Given the description of an element on the screen output the (x, y) to click on. 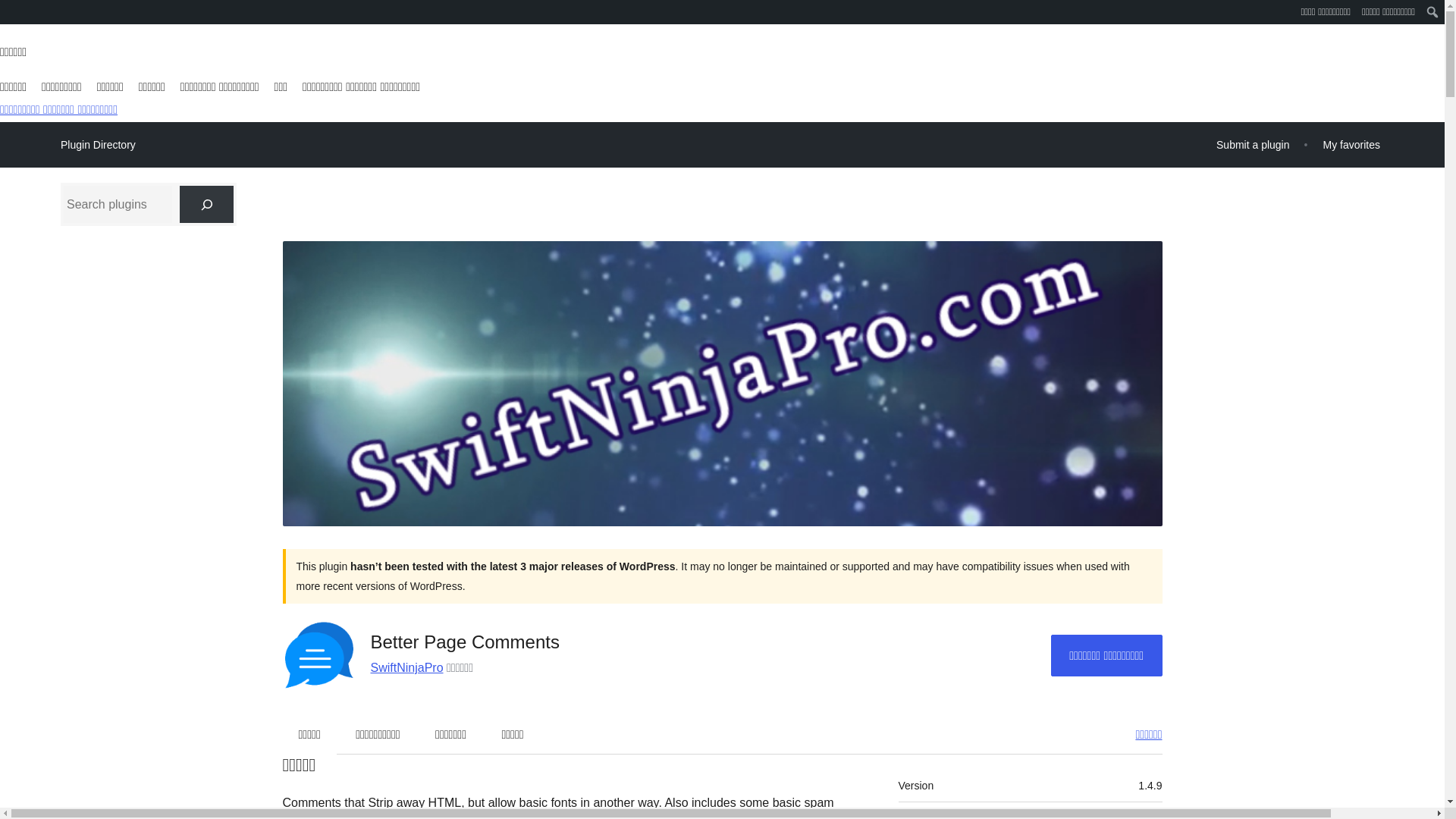
WordPress.org (10, 16)
SwiftNinjaPro (405, 667)
My favorites (1351, 144)
Submit a plugin (1253, 144)
WordPress.org (10, 10)
Plugin Directory (97, 144)
